Given the description of an element on the screen output the (x, y) to click on. 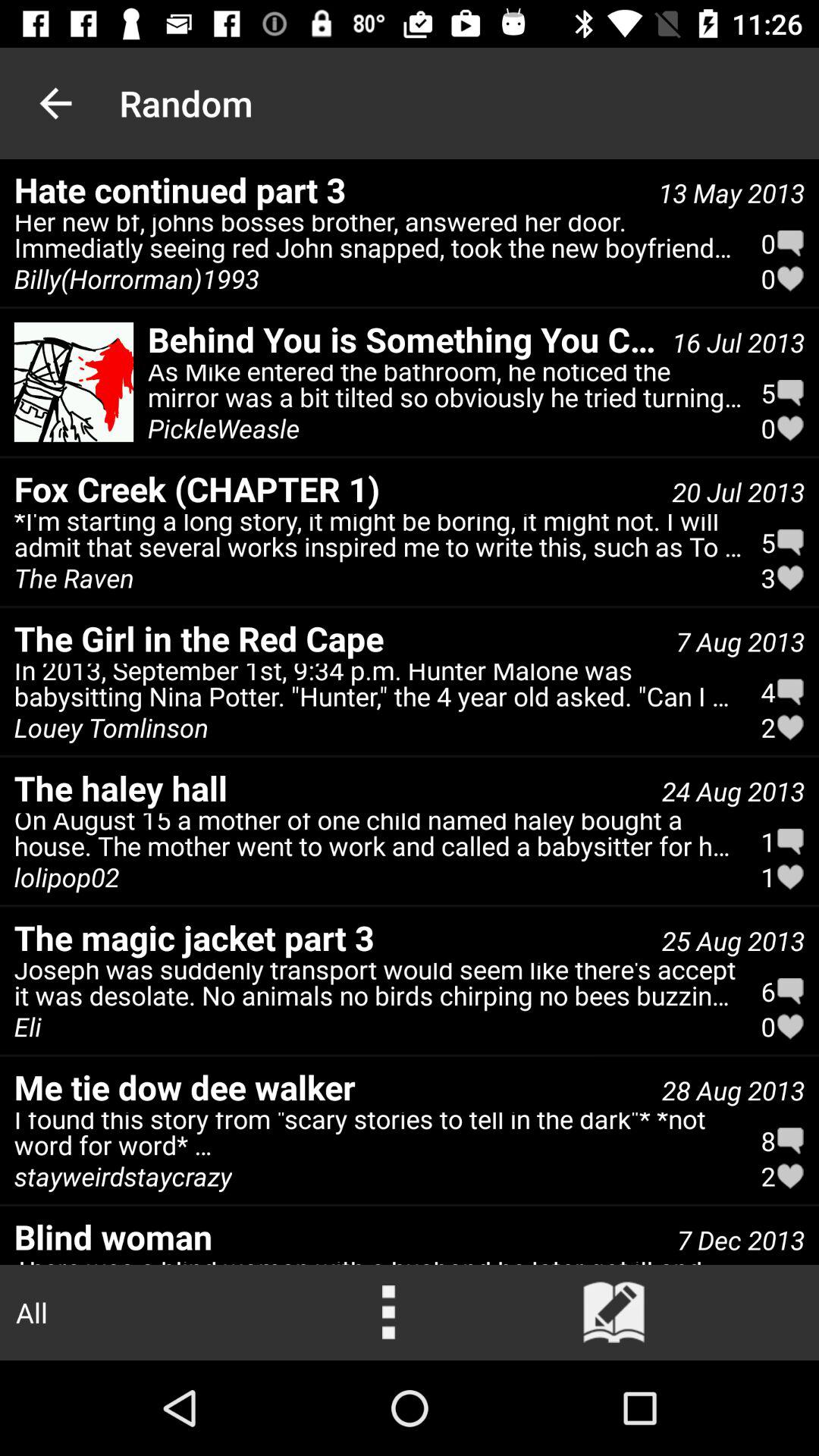
turn off the icon above the magic jacket icon (378, 838)
